Given the description of an element on the screen output the (x, y) to click on. 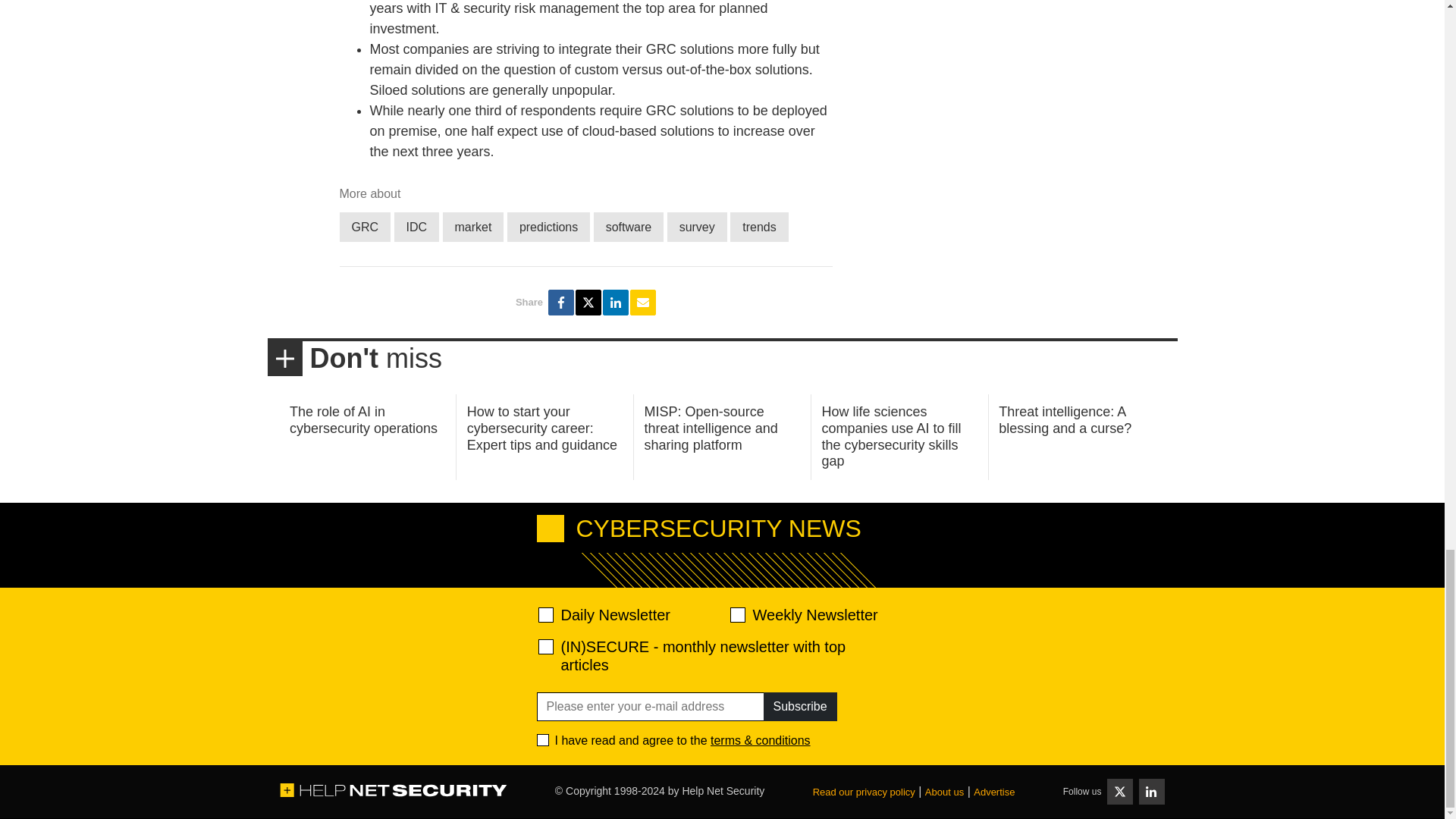
IDC (416, 226)
1 (542, 739)
IDC (416, 226)
d2d471aafa (736, 614)
market (472, 226)
market (472, 226)
trends (758, 226)
survey (696, 226)
520ac2f639 (545, 614)
trends (758, 226)
software (628, 226)
predictions (547, 226)
software (628, 226)
survey (696, 226)
GRC (365, 226)
